Given the description of an element on the screen output the (x, y) to click on. 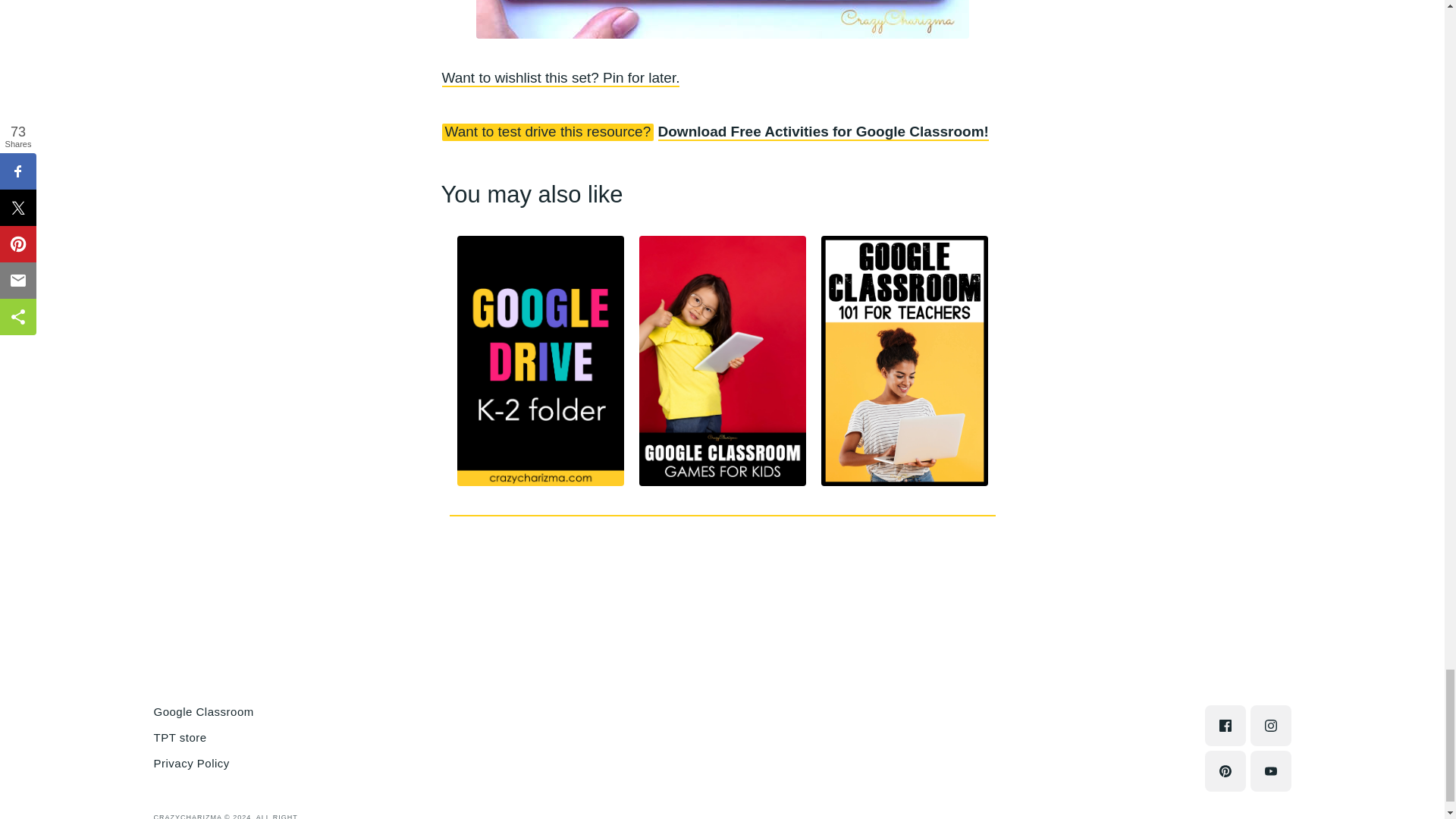
Want to wishlist this set? Pin for later. (560, 77)
Google Classroom (202, 711)
TPT store (179, 737)
Download Free Activities for Google Classroom! (823, 131)
Privacy Policy (190, 762)
